Given the description of an element on the screen output the (x, y) to click on. 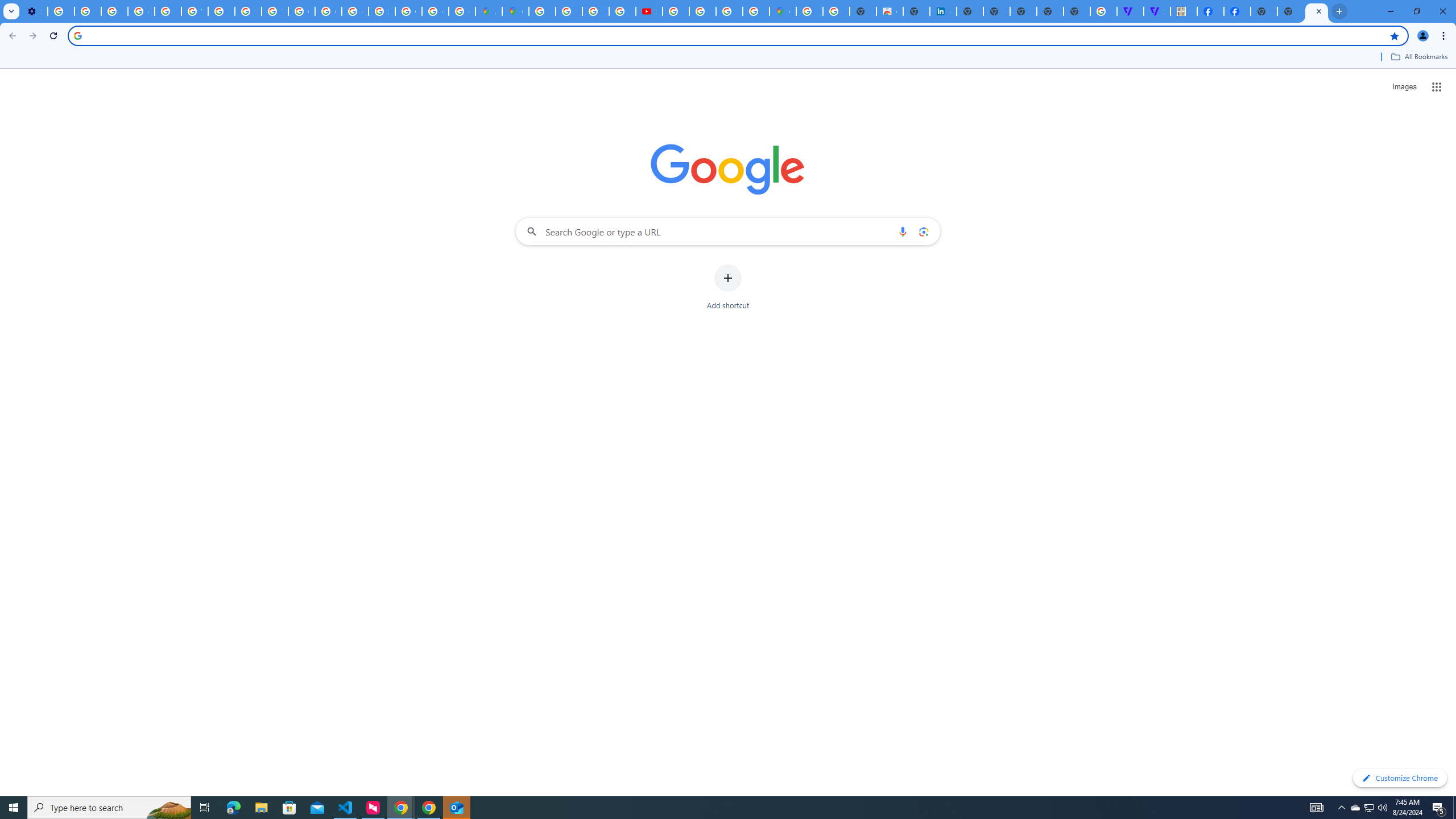
Learn how to find your photos - Google Photos Help (87, 11)
Add shortcut (727, 287)
Privacy Help Center - Policies Help (569, 11)
